Given the description of an element on the screen output the (x, y) to click on. 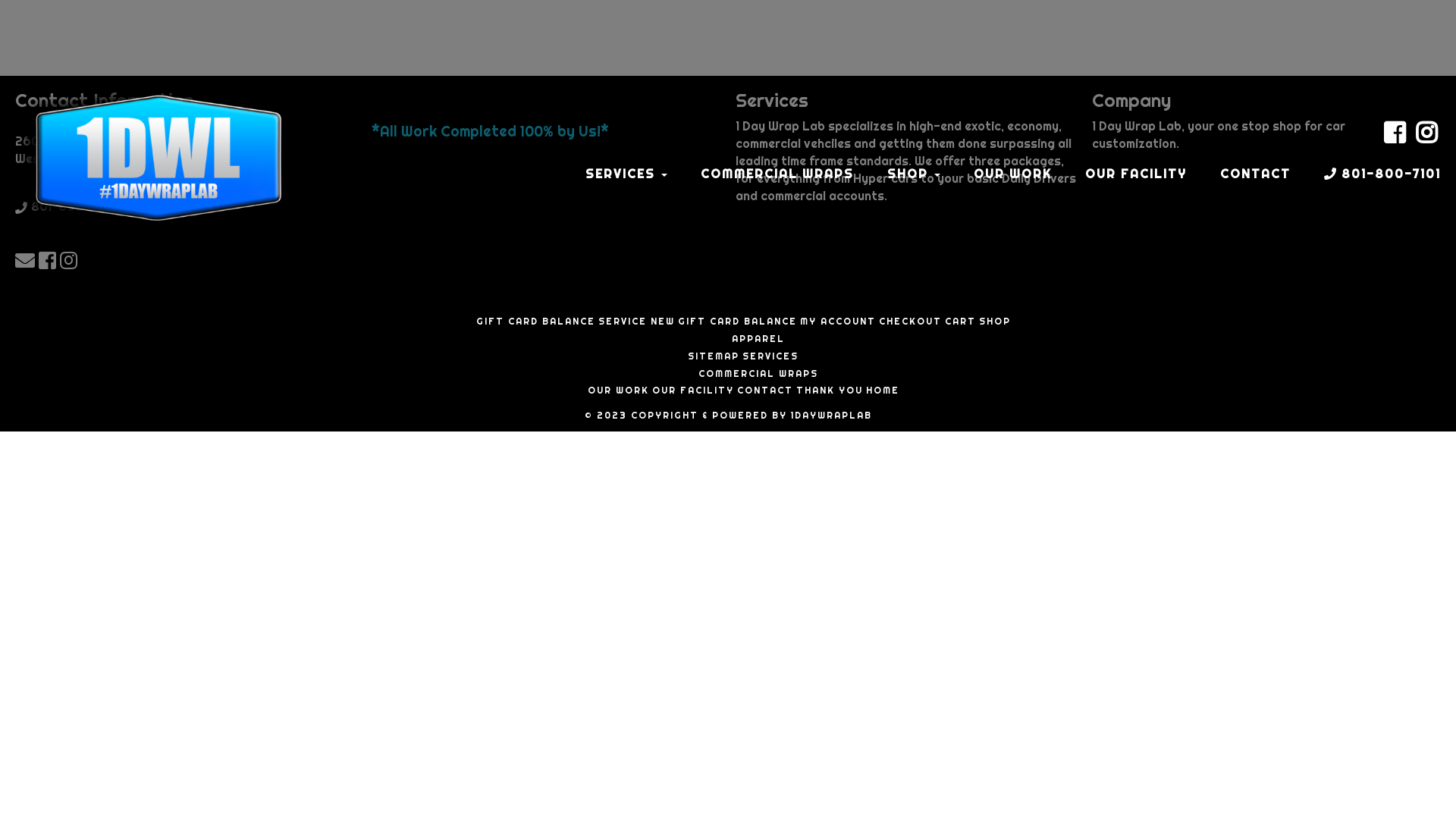
Our Instagram Element type: hover (70, 260)
GIFT CARD BALANCE Element type: text (737, 321)
Our Facebook Element type: hover (48, 260)
APPAREL Element type: text (757, 338)
OUR WORK Element type: text (617, 390)
Instagram Element type: hover (1426, 137)
CONTACT Element type: text (765, 390)
Our Email Element type: hover (26, 260)
Email Us Element type: hover (26, 259)
801-800-7101 Element type: text (71, 207)
801-800-7101 Element type: text (1382, 174)
CART Element type: text (959, 321)
COMMERCIAL WRAPS Element type: text (776, 174)
GIFT CARD BALANCE Element type: text (535, 321)
CHECKOUT Element type: text (909, 321)
MY ACCOUNT Element type: text (837, 321)
2601 S 2700 W,
West Valley City, Utah 84119 Element type: text (97, 150)
OUR FACILITY Element type: text (1135, 174)
HOME Element type: text (882, 390)
Facebook Element type: hover (1394, 137)
OUR FACILITY Element type: text (693, 390)
SERVICES Element type: text (626, 174)
THANK YOU Element type: text (829, 390)
CONTACT Element type: text (1255, 174)
SHOP Element type: text (994, 321)
OUR WORK Element type: text (1012, 174)
SHOP Element type: text (913, 174)
COMMERCIAL WRAPS Element type: text (758, 373)
SERVICES Element type: text (770, 356)
SERVICE NEW Element type: text (635, 321)
Home Element type: hover (157, 157)
SITEMAP Element type: text (713, 356)
